Given the description of an element on the screen output the (x, y) to click on. 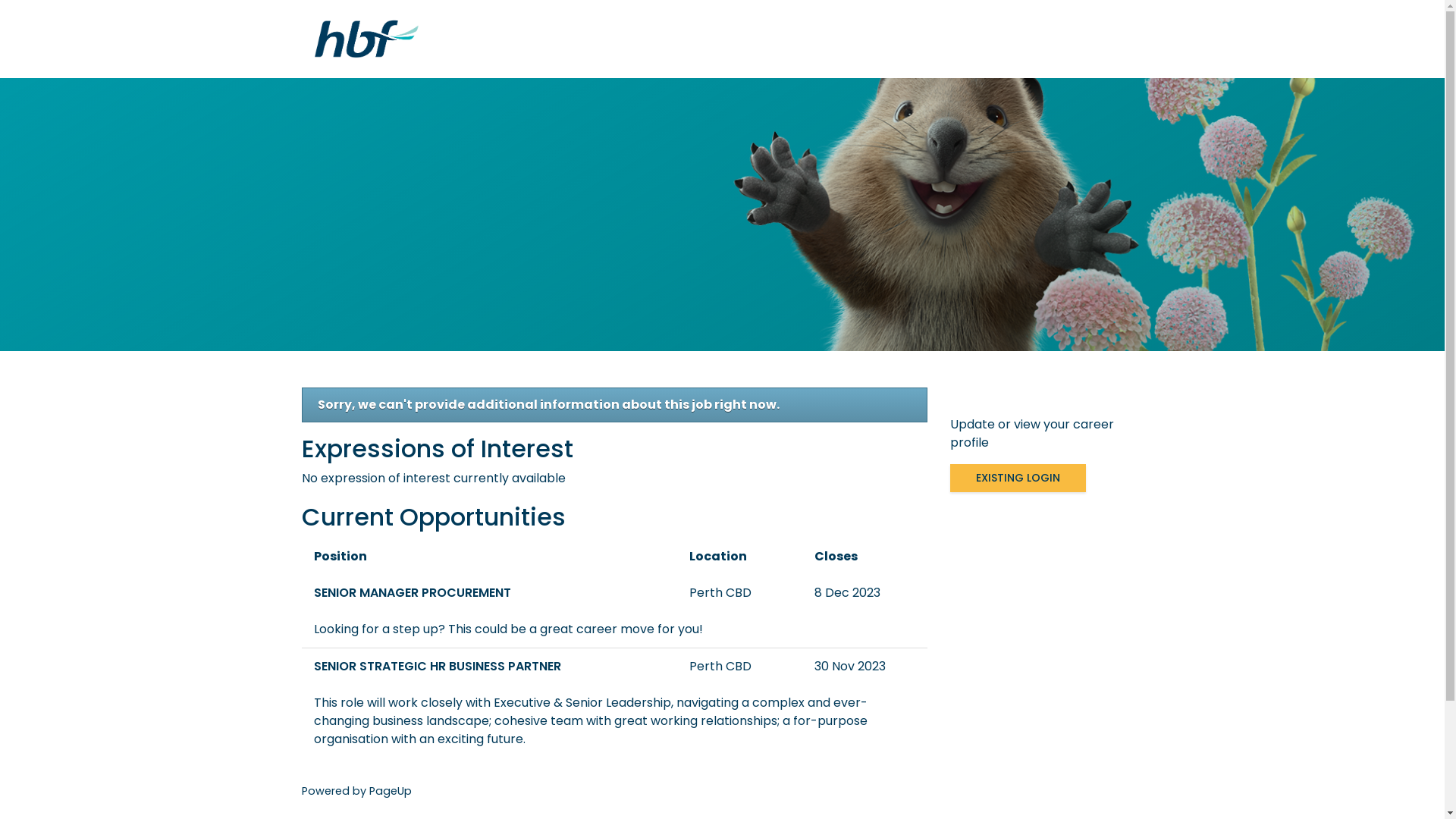
EXISTING LOGIN Element type: text (1017, 477)
Powered by PageUp Element type: text (356, 790)
SENIOR MANAGER PROCUREMENT Element type: text (489, 592)
SENIOR STRATEGIC HR BUSINESS PARTNER Element type: text (489, 666)
